Given the description of an element on the screen output the (x, y) to click on. 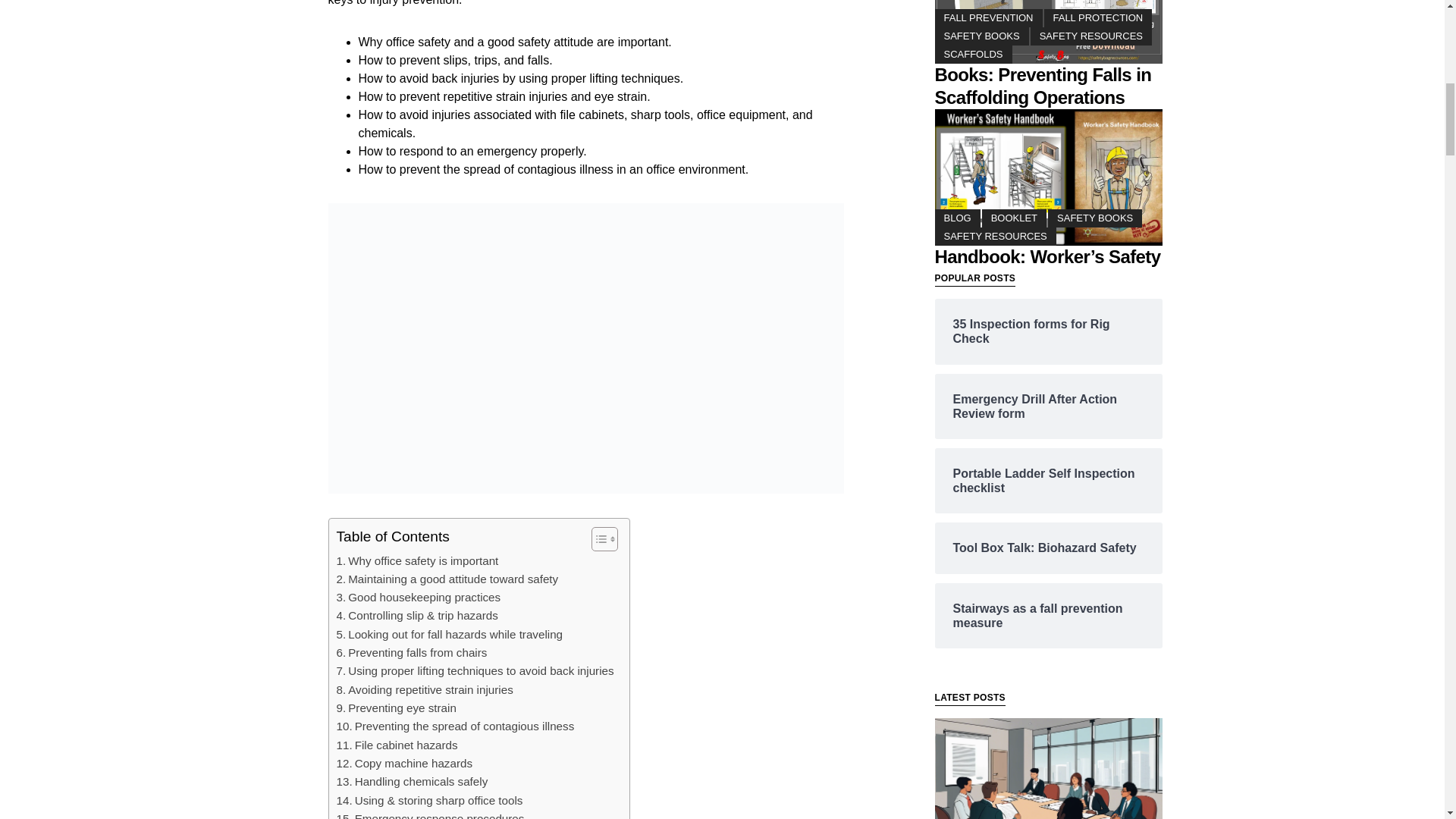
Looking out for fall hazards while traveling (449, 634)
Good housekeeping practices (418, 597)
Why office safety is important (417, 561)
Maintaining a good attitude toward safety (447, 579)
